Given the description of an element on the screen output the (x, y) to click on. 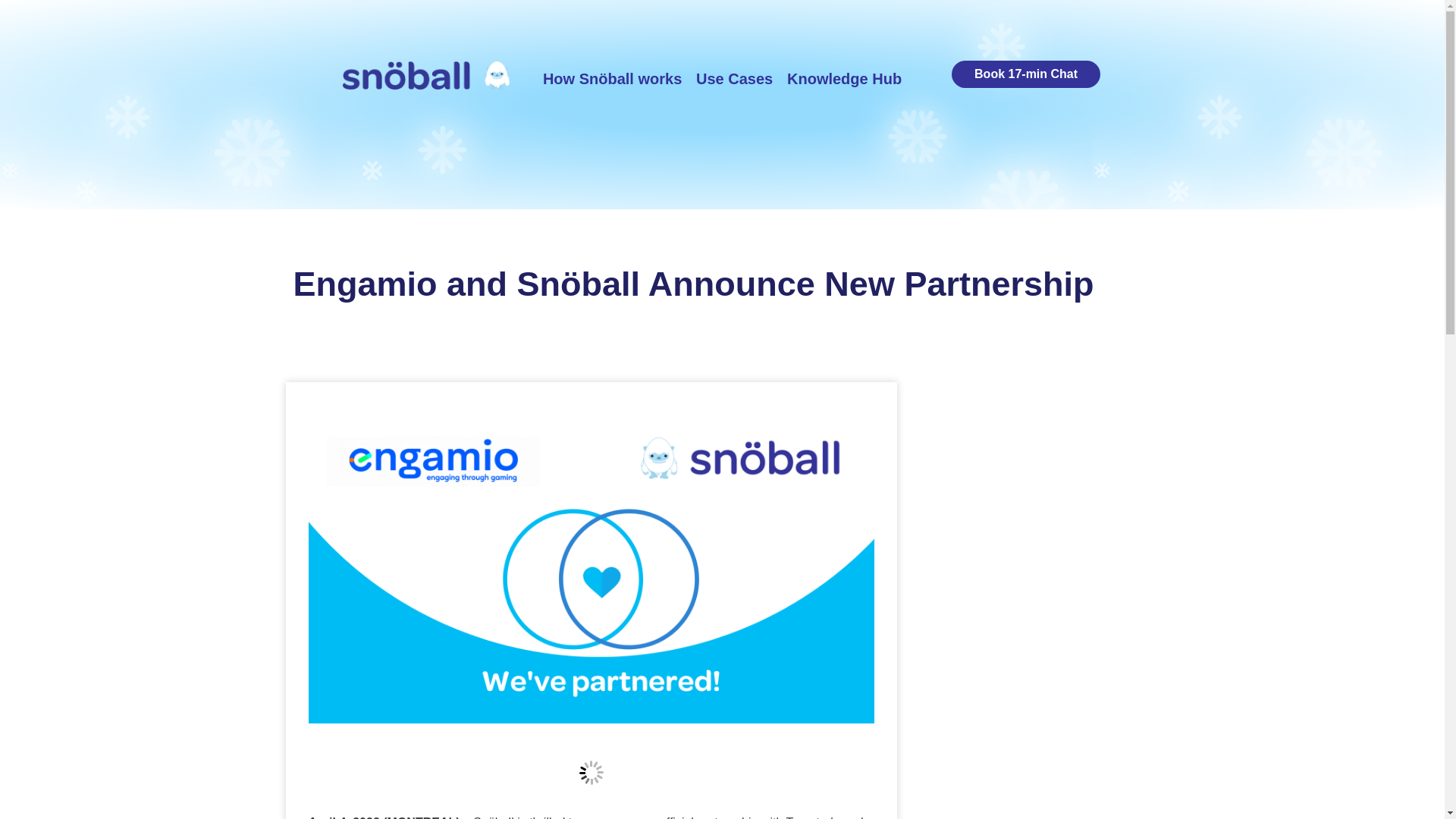
Knowledge Hub (844, 78)
Use Cases (734, 78)
Book 17-min Chat (1026, 73)
